Given the description of an element on the screen output the (x, y) to click on. 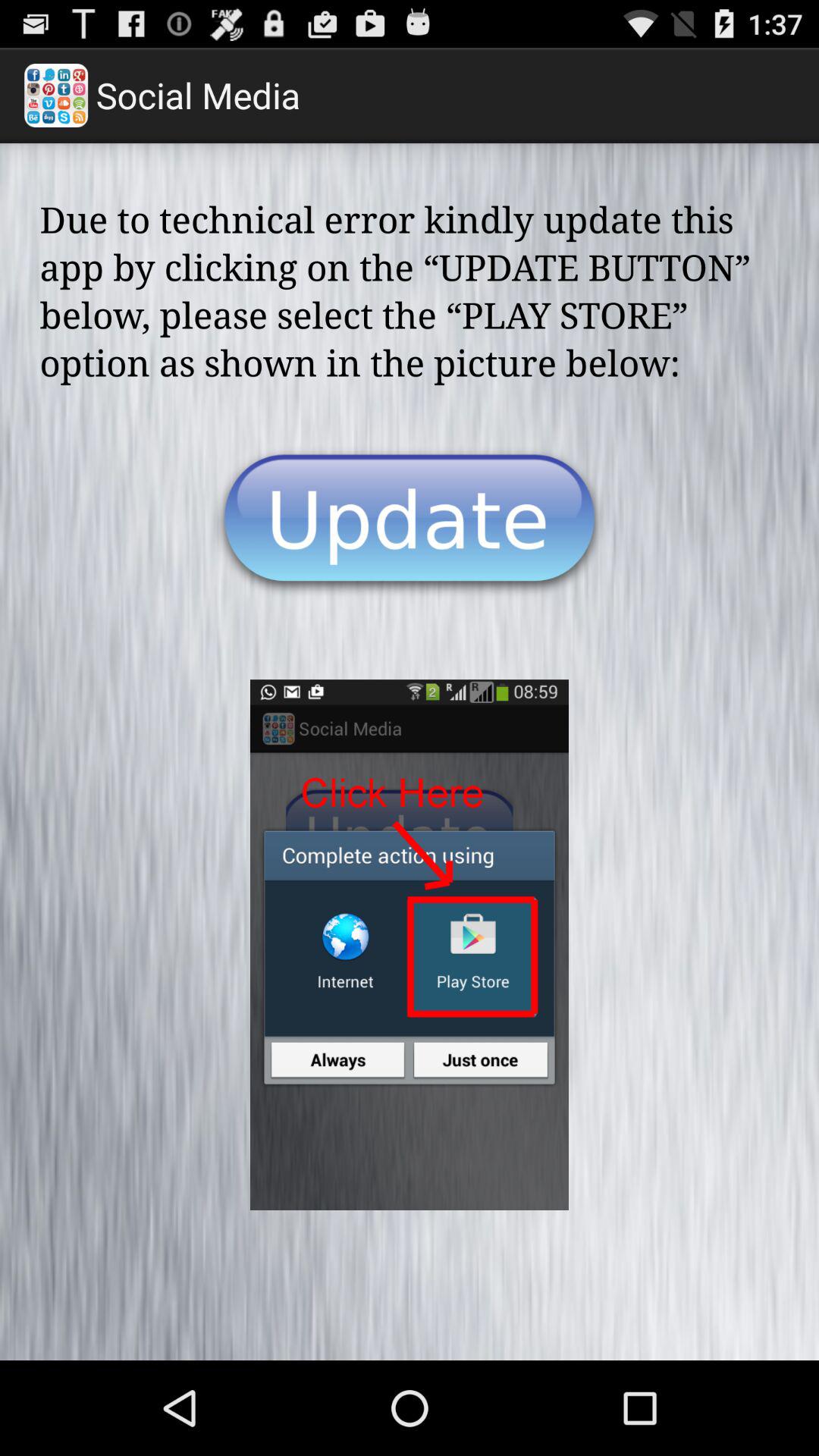
update profile (409, 522)
